Given the description of an element on the screen output the (x, y) to click on. 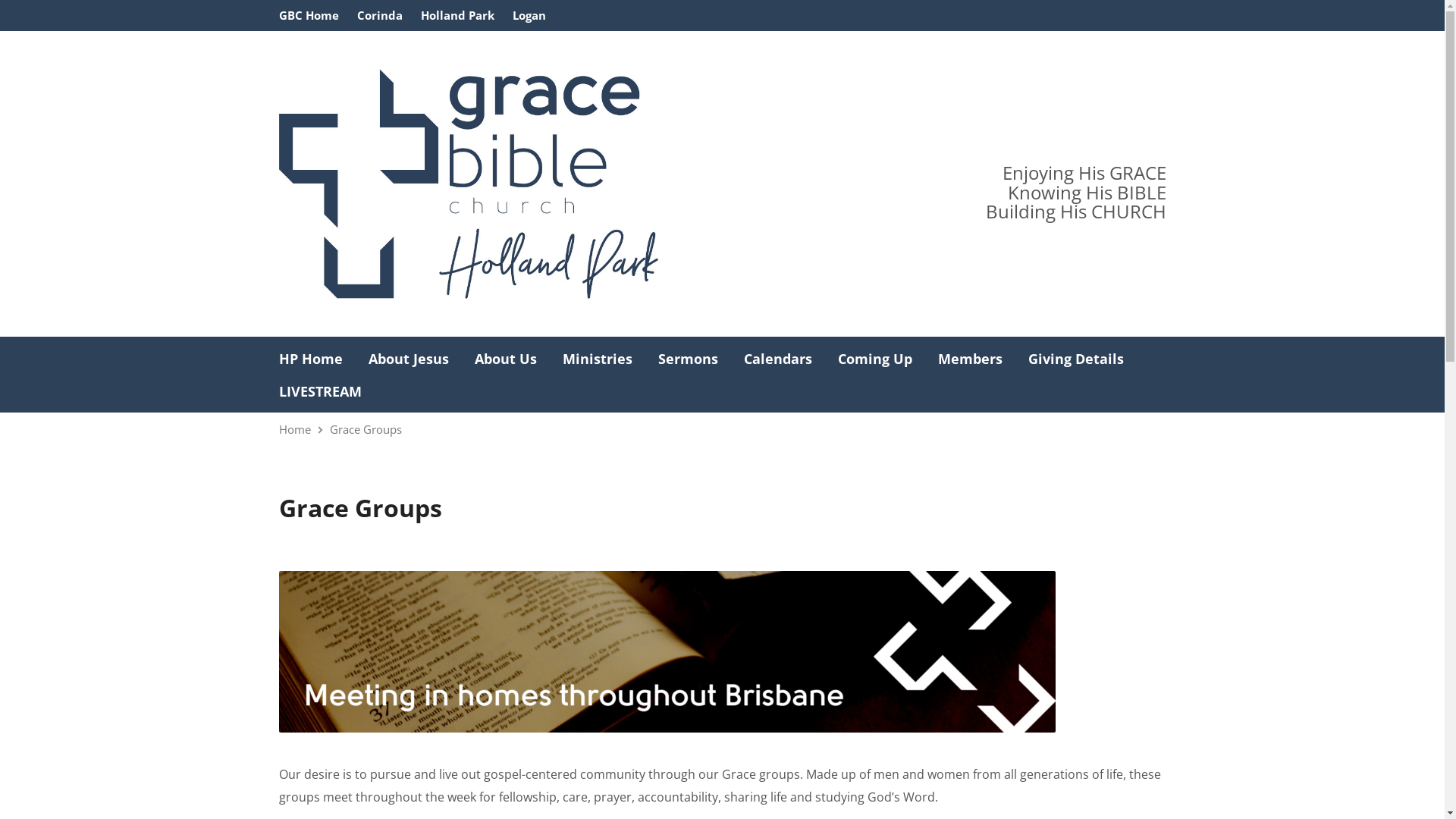
About Jesus Element type: text (408, 358)
LIVESTREAM Element type: text (320, 390)
Coming Up Element type: text (874, 358)
Giving Details Element type: text (1075, 358)
Corinda Element type: text (378, 14)
HP Home Element type: text (310, 358)
Ministries Element type: text (597, 358)
Logan Element type: text (529, 14)
Holland Park Element type: text (456, 14)
Grace Groups Element type: text (365, 428)
Sermons Element type: text (688, 358)
Home Element type: text (294, 428)
Members Element type: text (969, 358)
About Us Element type: text (505, 358)
Calendars Element type: text (777, 358)
GBC Home Element type: text (308, 14)
